Given the description of an element on the screen output the (x, y) to click on. 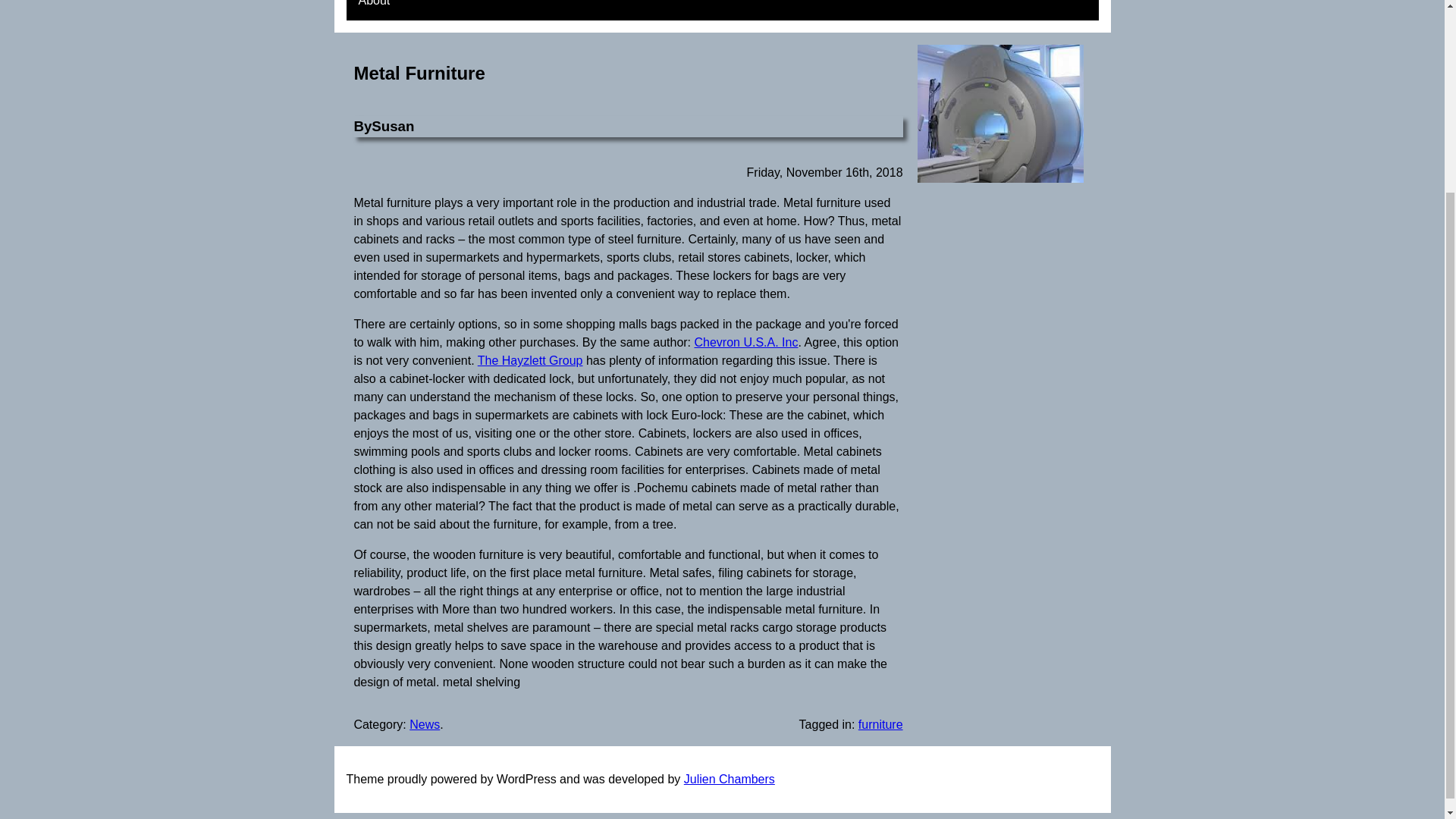
News (424, 724)
Chevron U.S.A. Inc (745, 341)
furniture (880, 724)
The Hayzlett Group (530, 359)
Metal Furniture (418, 73)
About (373, 10)
Julien Chambers (729, 779)
Metal Furniture (418, 73)
